Given the description of an element on the screen output the (x, y) to click on. 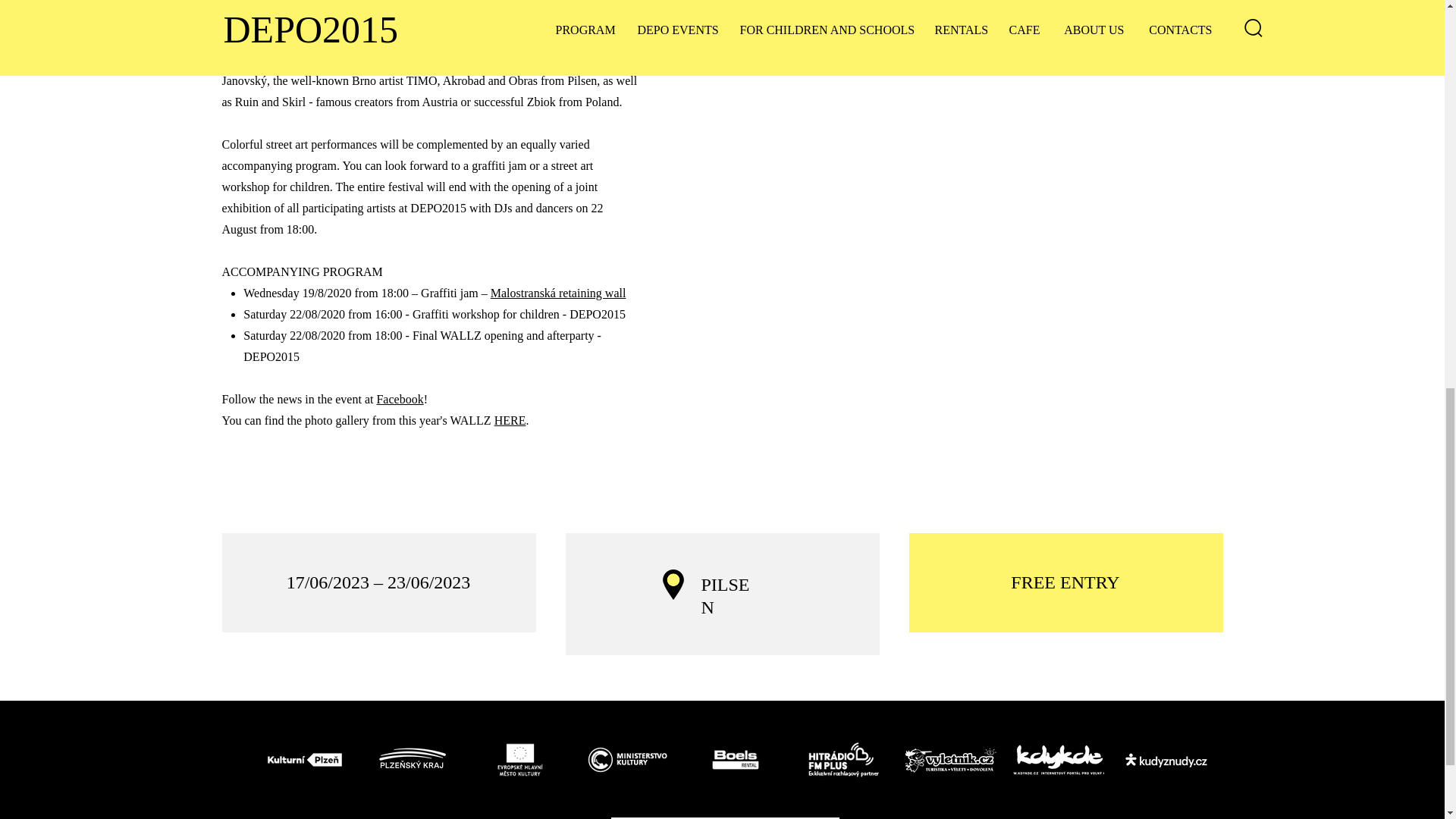
DEPO2015 (1166, 759)
DEPO2015 (304, 759)
DEPO2015 (412, 759)
DEPO2015 (950, 759)
ikona-mapa.png (672, 584)
HERE (510, 420)
DEPO2015 (627, 759)
DEPO2015 (735, 759)
DEPO2015 (842, 759)
DEPO2015 (520, 759)
DEPO2015 (1058, 759)
Facebook (399, 399)
